Given the description of an element on the screen output the (x, y) to click on. 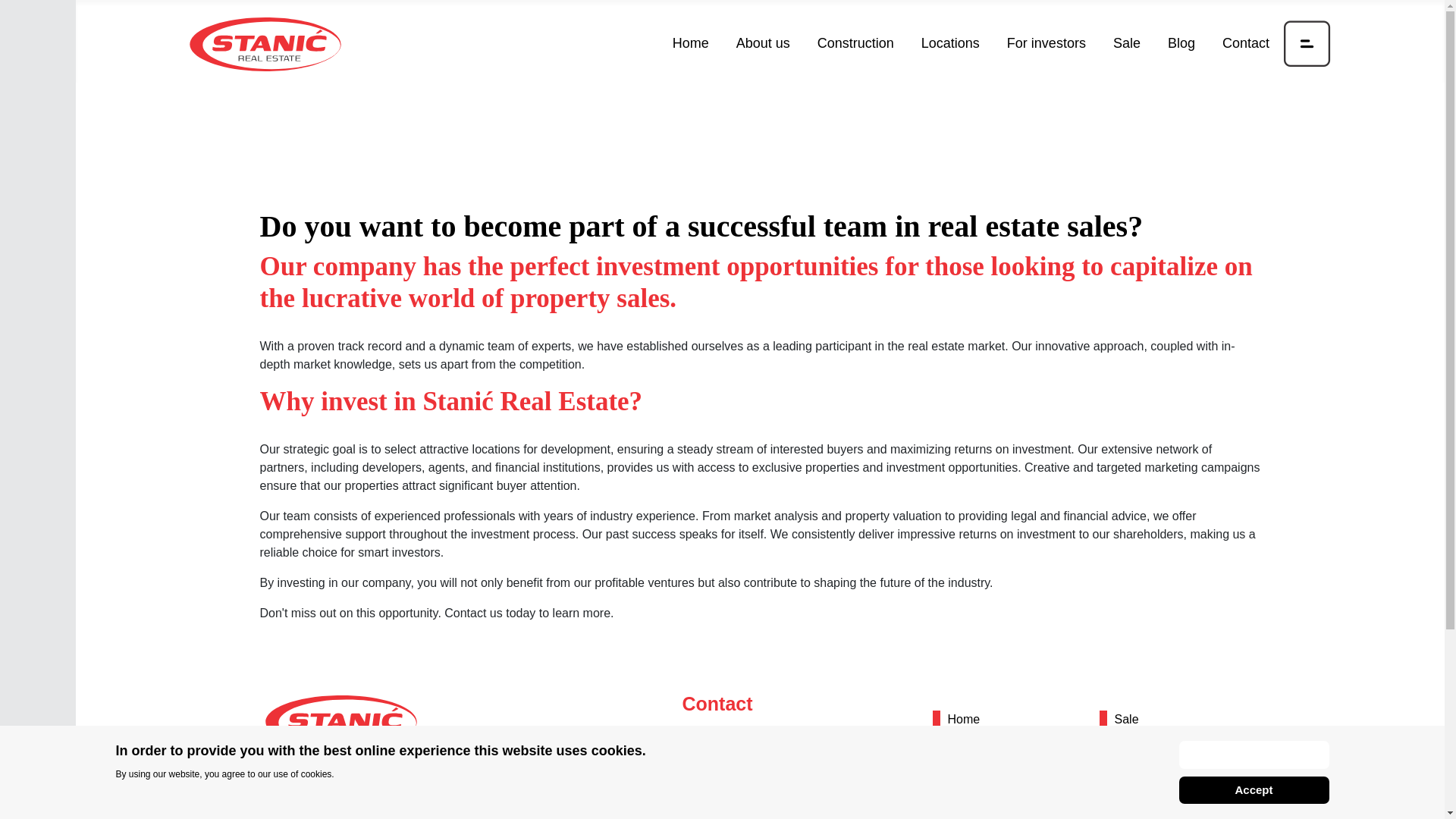
About us (971, 748)
Home (963, 718)
Sale (1126, 718)
Cookies (1136, 779)
Learn more (1252, 755)
For investors (1045, 43)
About us (762, 43)
Locations (973, 809)
Construction (981, 779)
Blog (1181, 43)
Locations (949, 43)
Privacy policy (1152, 809)
Home (690, 43)
Accept (1252, 790)
Contact (1245, 43)
